Given the description of an element on the screen output the (x, y) to click on. 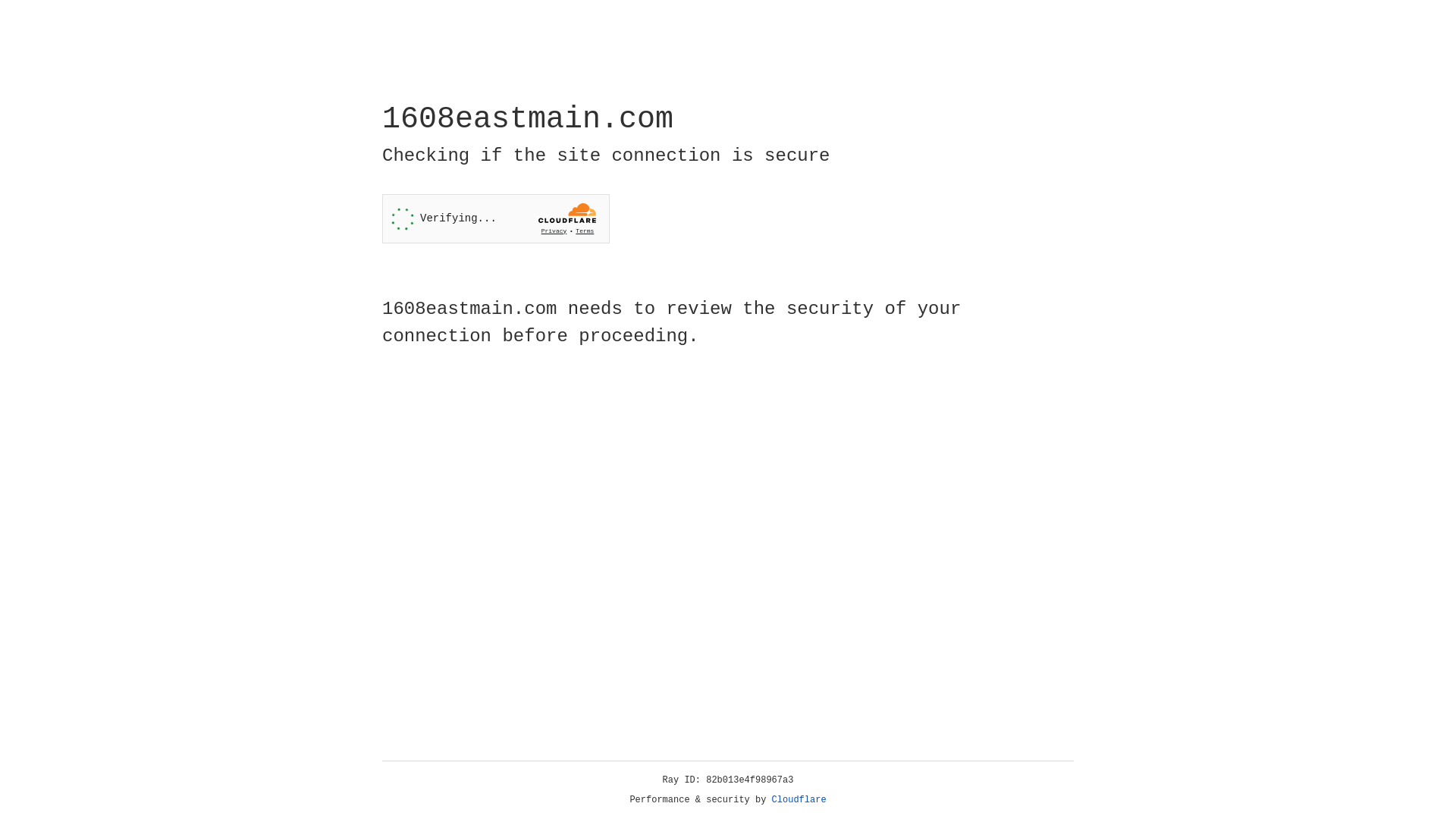
Widget containing a Cloudflare security challenge Element type: hover (495, 218)
Cloudflare Element type: text (798, 799)
